Given the description of an element on the screen output the (x, y) to click on. 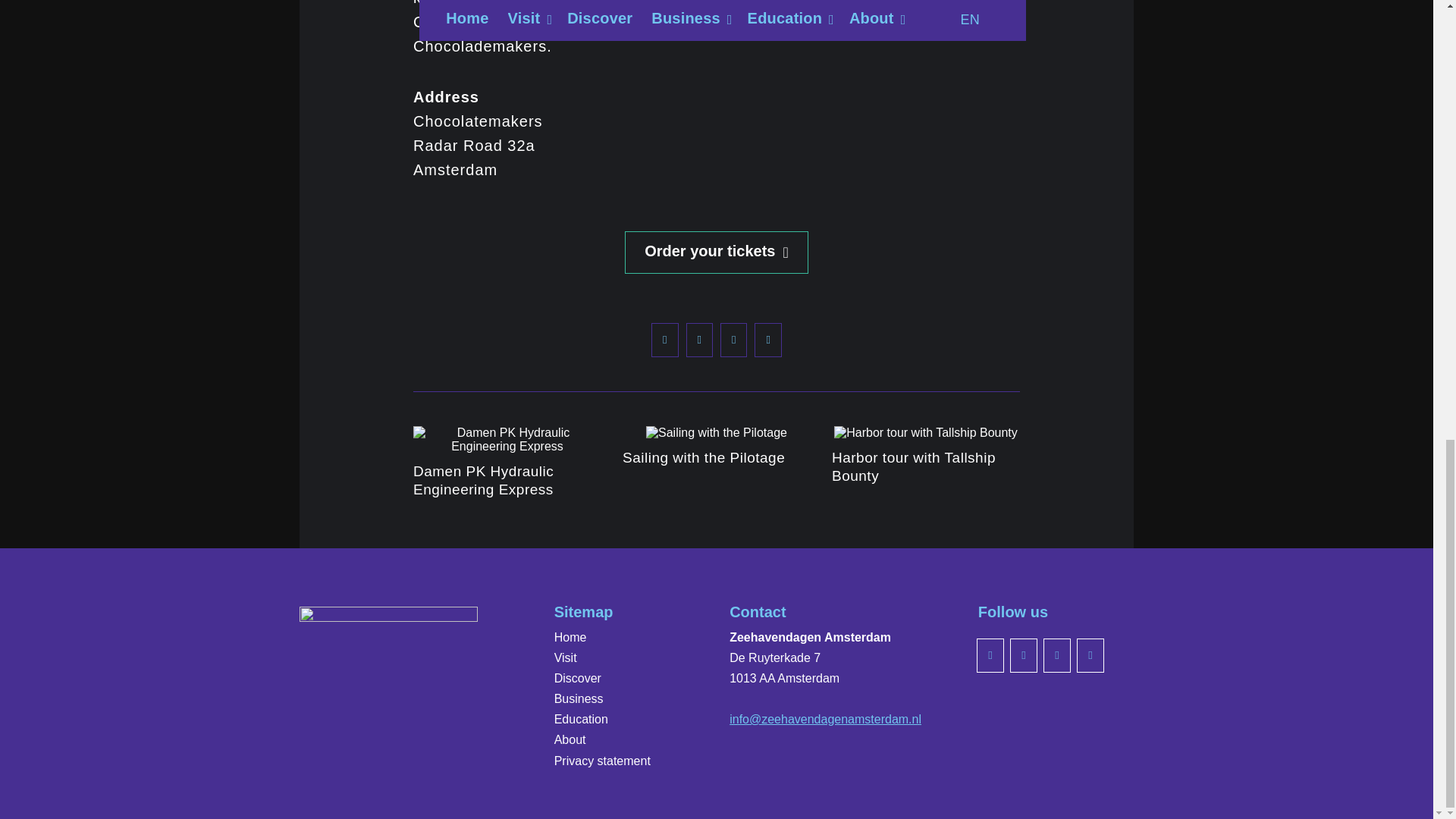
Damen PK Hydraulic Engineering Express (483, 480)
Harbor tour with Tallship Bounty (913, 466)
Sailing with the Pilotage (703, 457)
Harbor tour with Tallship Bounty (913, 466)
Damen PK Hydraulic Engineering Express (483, 480)
Home (608, 636)
Order your tickets (716, 251)
Sailing with the Pilotage (703, 457)
Visit (608, 657)
